Given the description of an element on the screen output the (x, y) to click on. 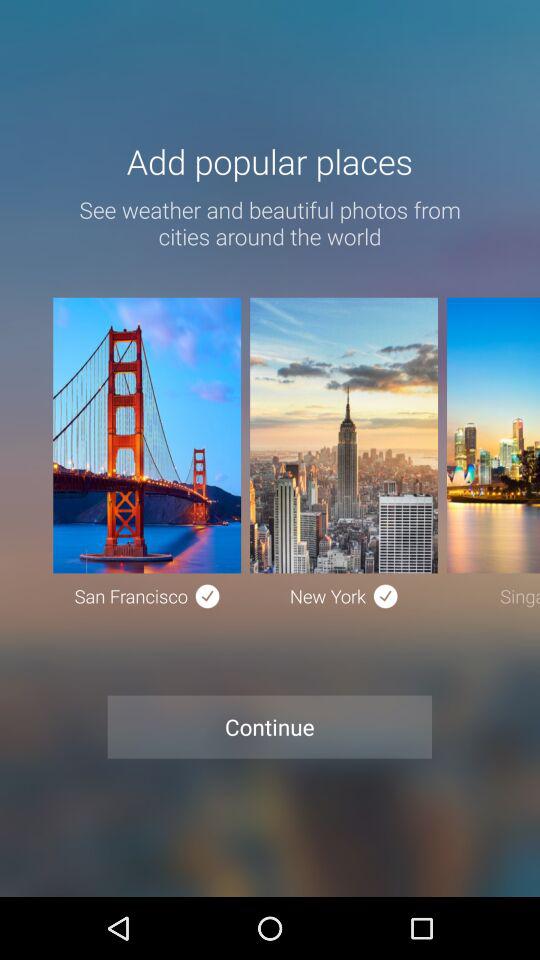
go to image above text new york (342, 435)
choose the image above san francisco (146, 435)
click the icon right beside of new york (385, 595)
click on the symbol which is to the right of san francisco (207, 595)
click on the third image (493, 435)
